Given the description of an element on the screen output the (x, y) to click on. 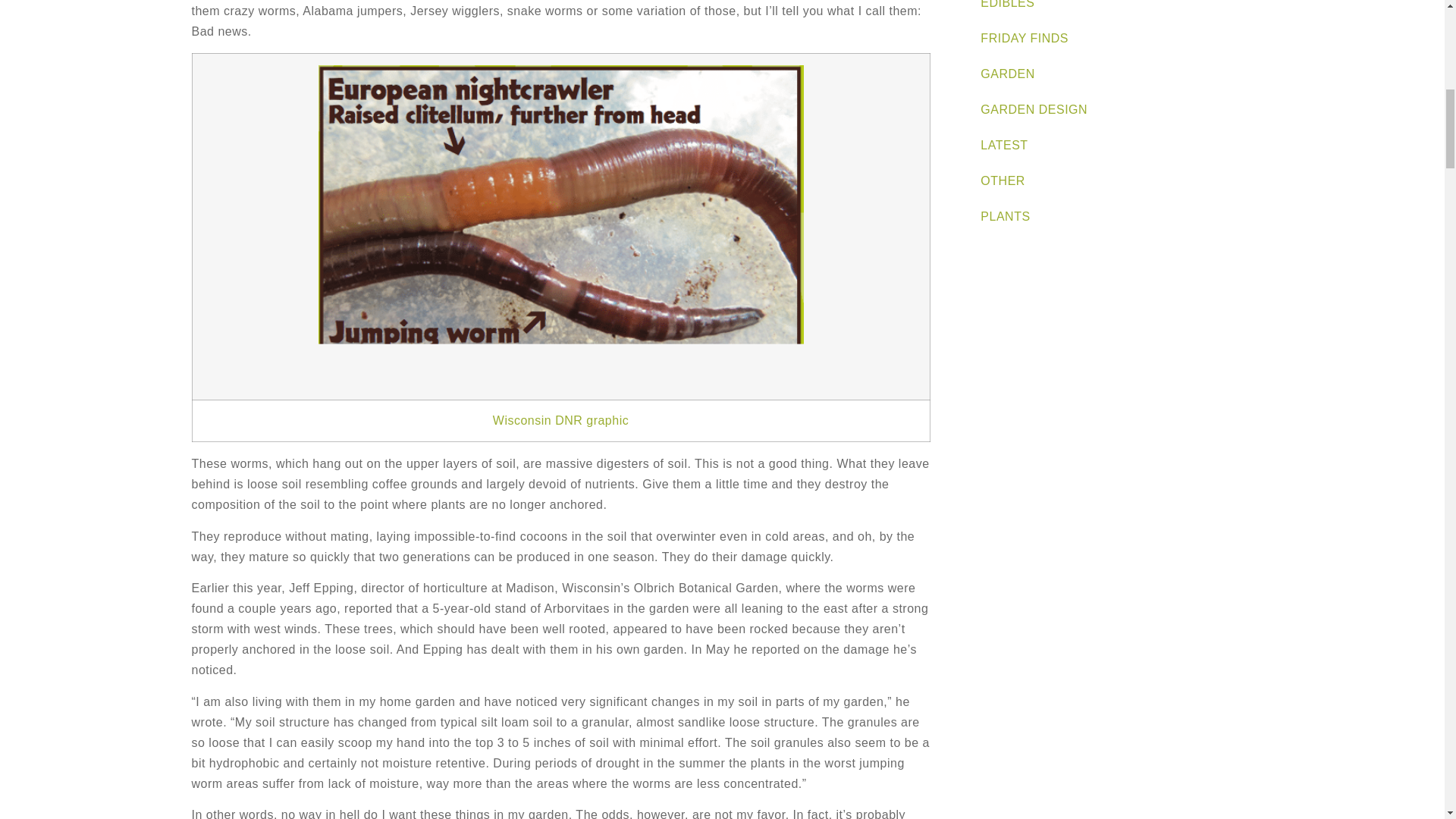
Wisconsin DNR graphic (560, 420)
